Given the description of an element on the screen output the (x, y) to click on. 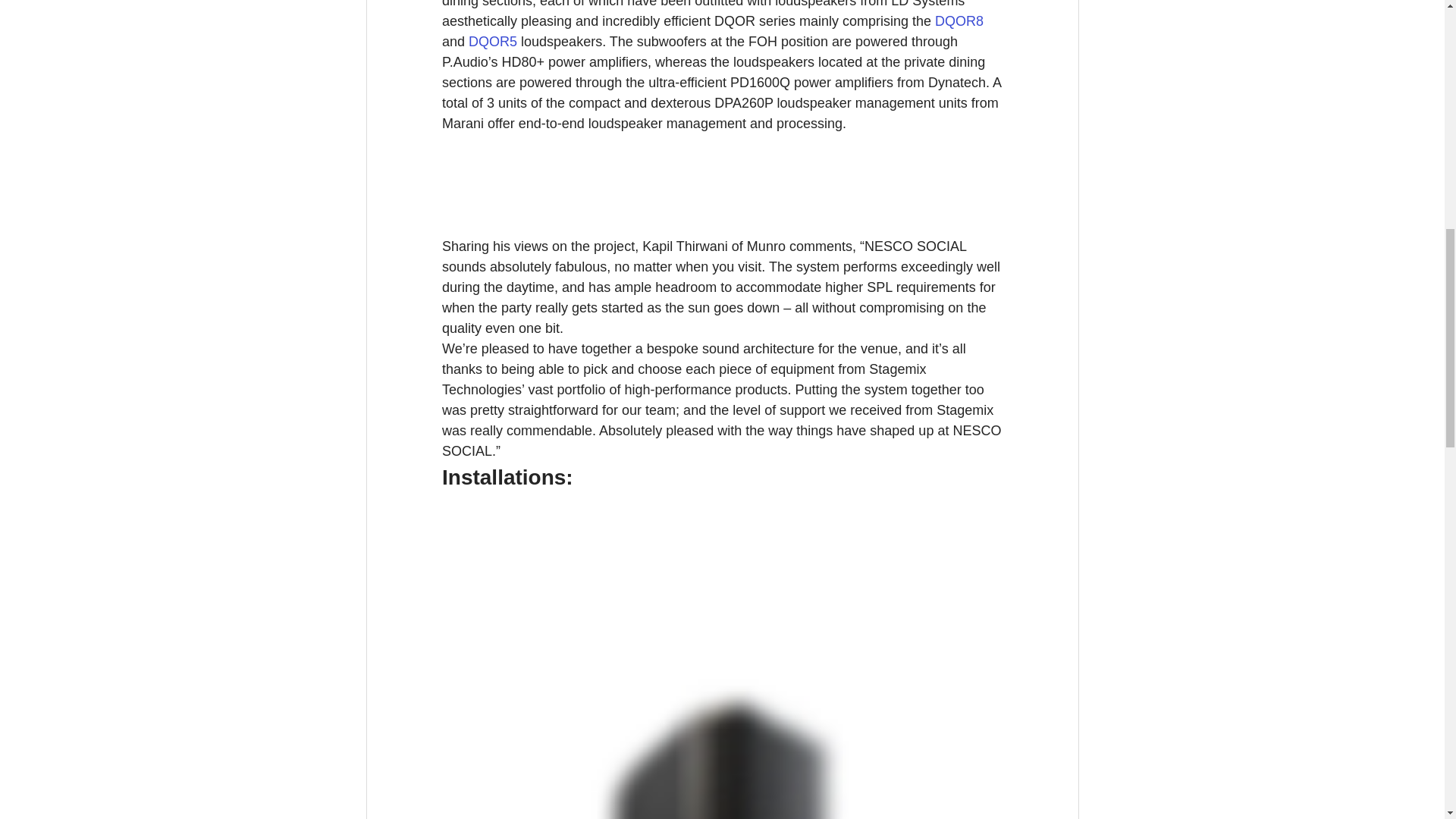
DQOR8 (958, 20)
DQOR5 (492, 41)
